Given the description of an element on the screen output the (x, y) to click on. 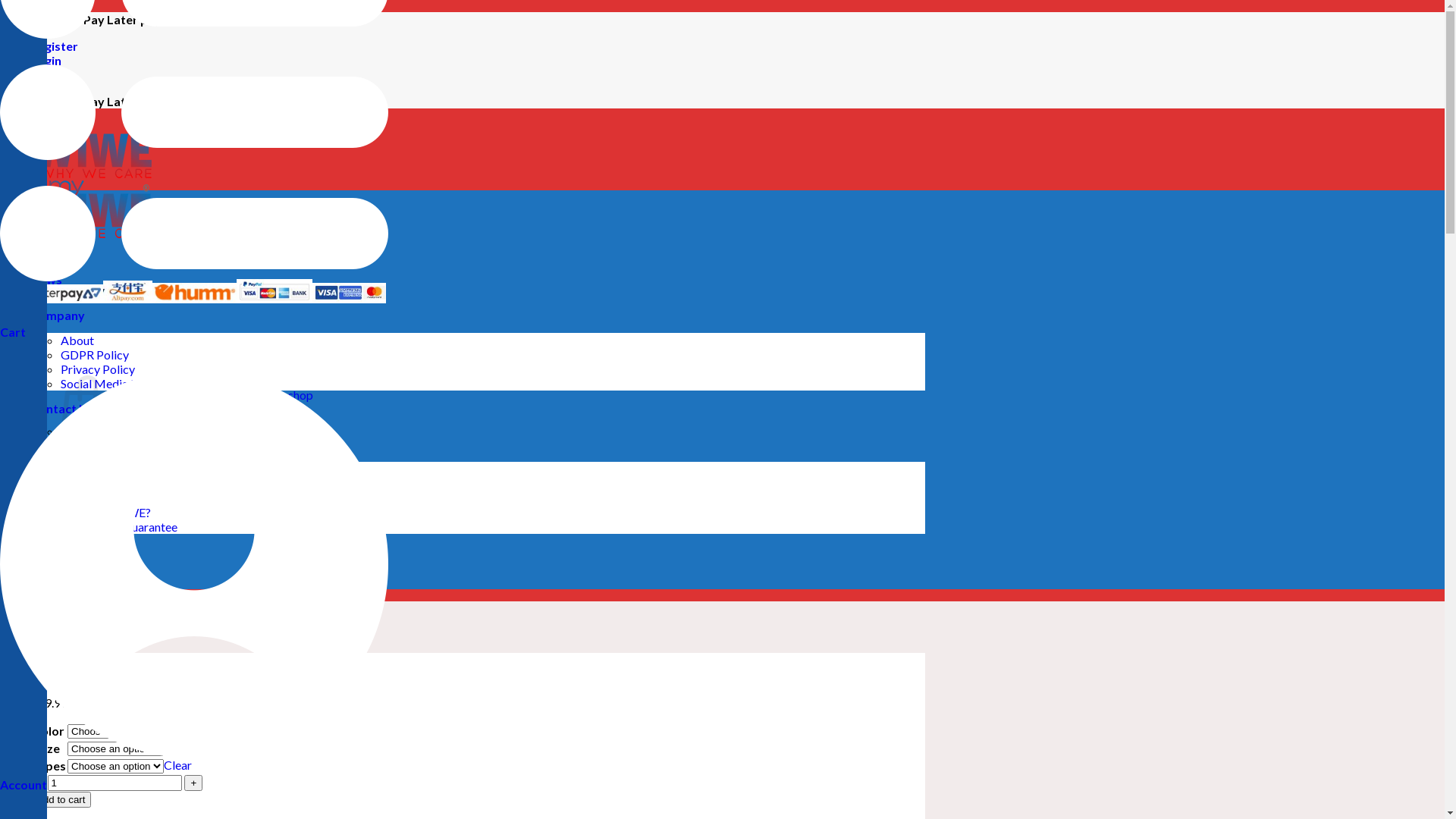
Skip to content Element type: text (0, 12)
Return to shop Element type: text (275, 394)
Social Media Policy Element type: text (111, 383)
Add to cart Element type: text (60, 799)
Using WIWE Element type: text (94, 483)
1300 MY WIWE Element type: text (103, 581)
Warranty & Guarantee Element type: text (118, 526)
Company Element type: text (57, 314)
Shop Element type: text (44, 243)
Clear Element type: text (177, 764)
Register Element type: text (54, 45)
WIWE Shop - why we care Element type: hover (75, 203)
T-Shirts Element type: text (62, 631)
Resources Element type: text (59, 443)
Video Element type: text (75, 497)
Instructions for Use Element type: text (111, 468)
Login Element type: text (45, 60)
News Element type: text (46, 279)
Home Element type: text (47, 207)
What is a WIWE? Element type: text (105, 512)
About Element type: text (77, 339)
GDPR Policy Element type: text (94, 354)
Contact Us Element type: text (62, 408)
Account Element type: text (22, 580)
1300 699 493 Element type: text (96, 553)
Privacy Policy Element type: text (97, 368)
Home Element type: text (16, 631)
24 x 7 Element type: text (76, 567)
Menu Element type: text (46, 259)
